Given the description of an element on the screen output the (x, y) to click on. 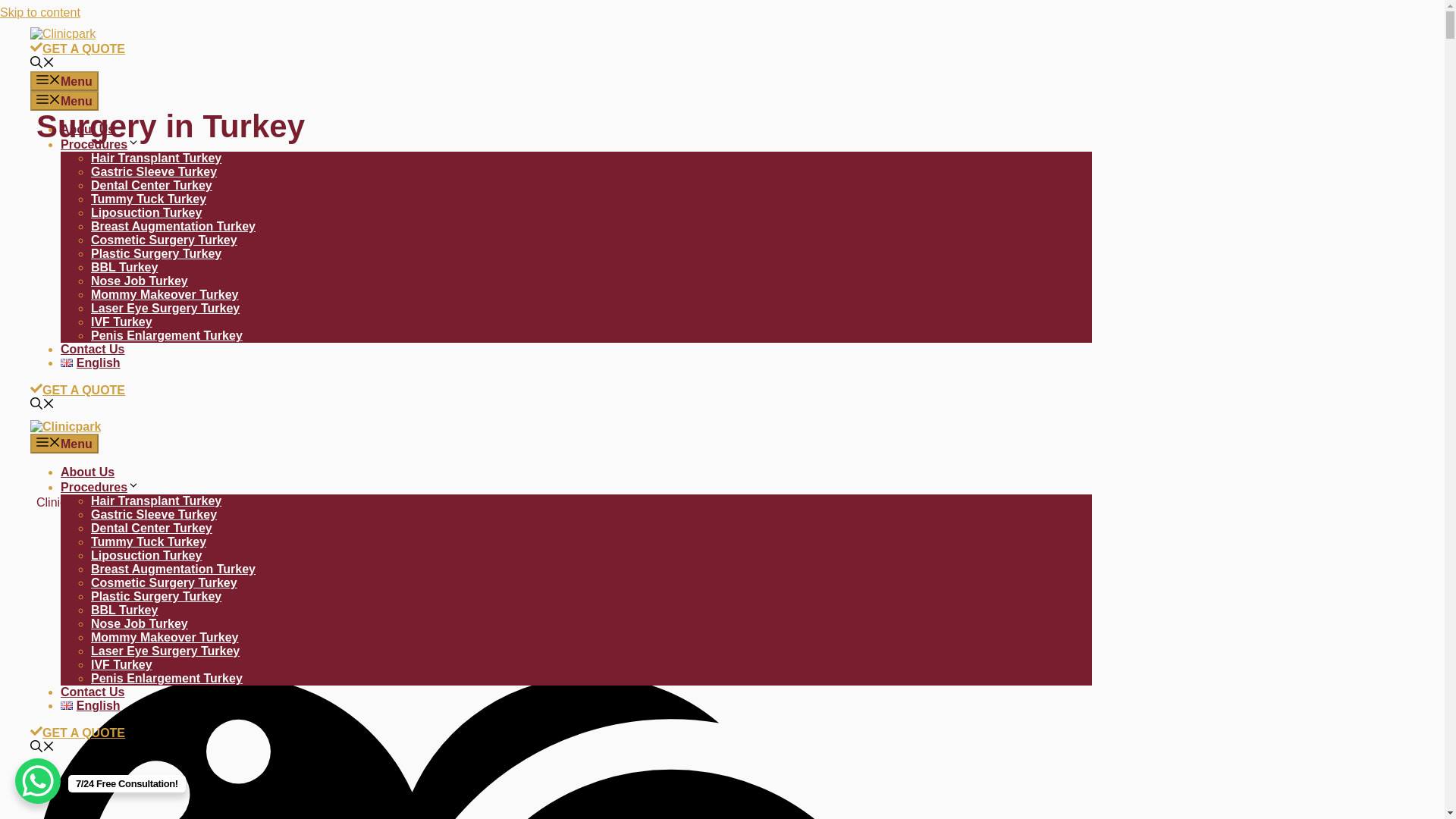
Breast Augmentation Turkey (173, 226)
Menu (64, 100)
Laser Eye Surgery Turkey (165, 308)
Procedures (100, 144)
Plastic Surgery Turkey (155, 595)
Skip to content (40, 11)
Hair Transplant Turkey (155, 157)
IVF Turkey (121, 321)
Mommy Makeover Turkey (164, 294)
